Given the description of an element on the screen output the (x, y) to click on. 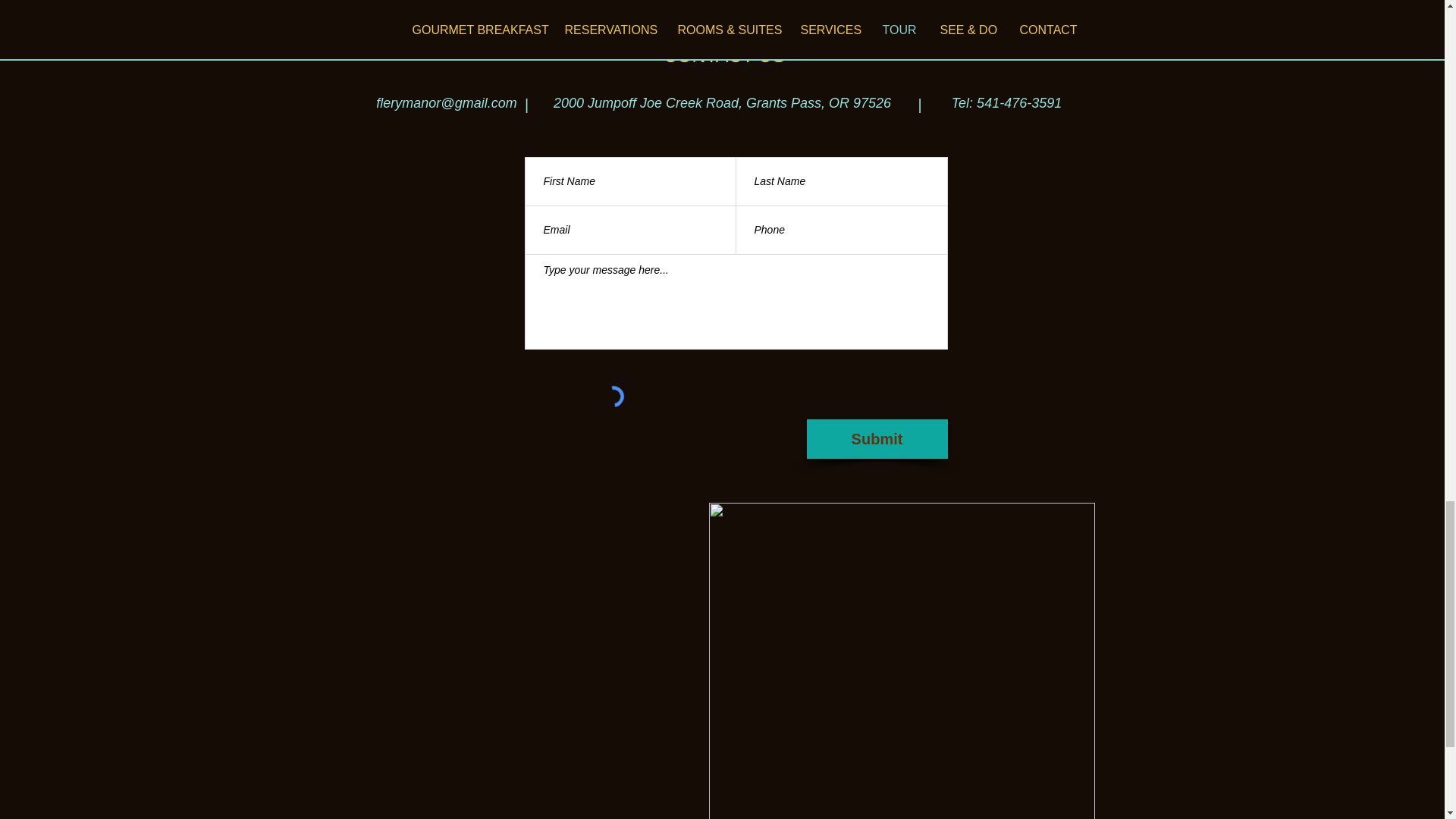
Submit (876, 438)
Home (410, 9)
